Given the description of an element on the screen output the (x, y) to click on. 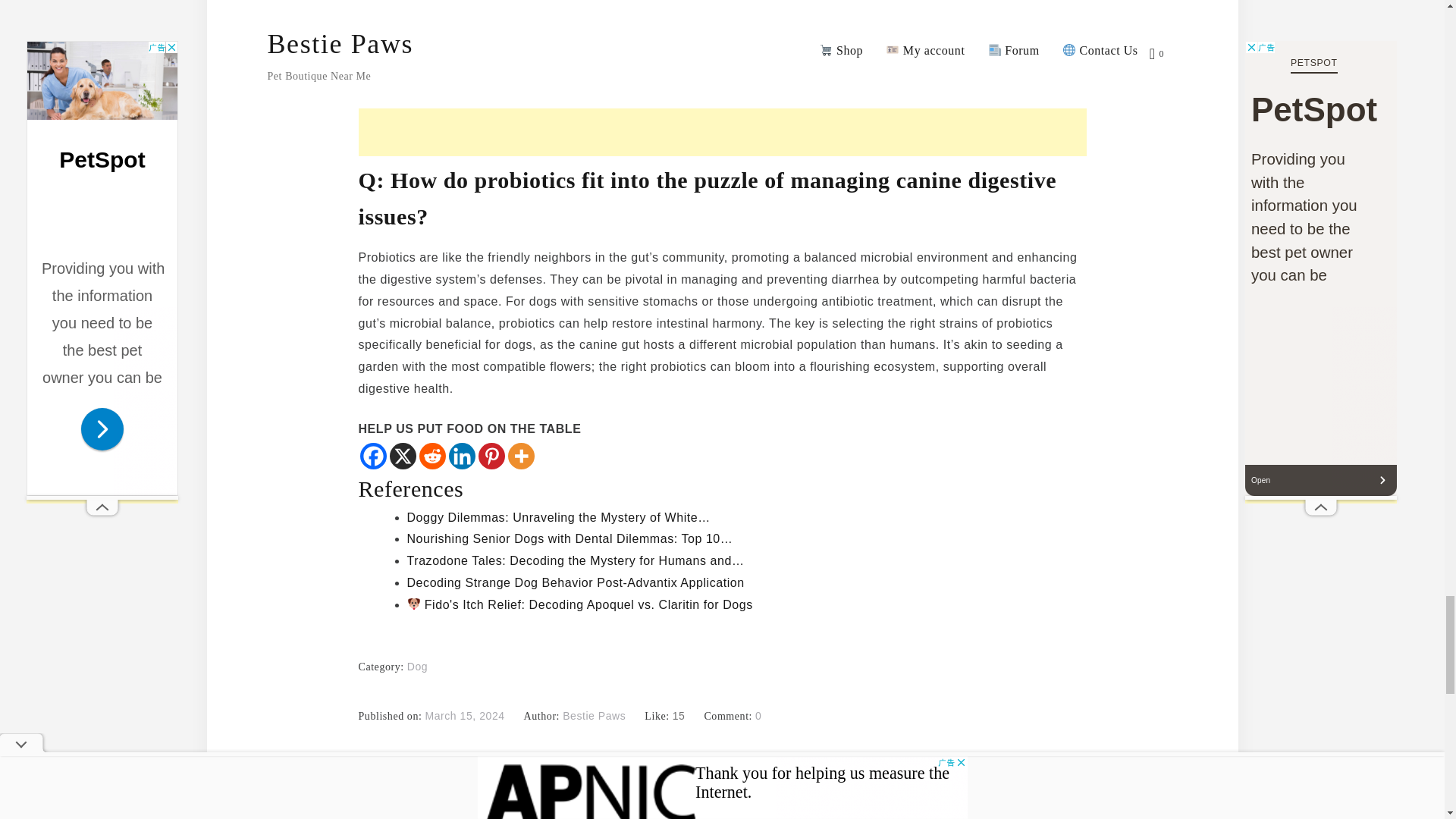
Decoding Strange Dog Behavior Post-Advantix Application (575, 582)
Bestie Paws (594, 715)
Fido's Itch Relief: Decoding Apoquel vs. Claritin for Dogs (579, 604)
X (403, 456)
Linkedin (462, 456)
Dog (417, 666)
March 15, 2024 (464, 715)
Pinterest (490, 456)
Facebook (372, 456)
Reddit (432, 456)
More (521, 456)
